Given the description of an element on the screen output the (x, y) to click on. 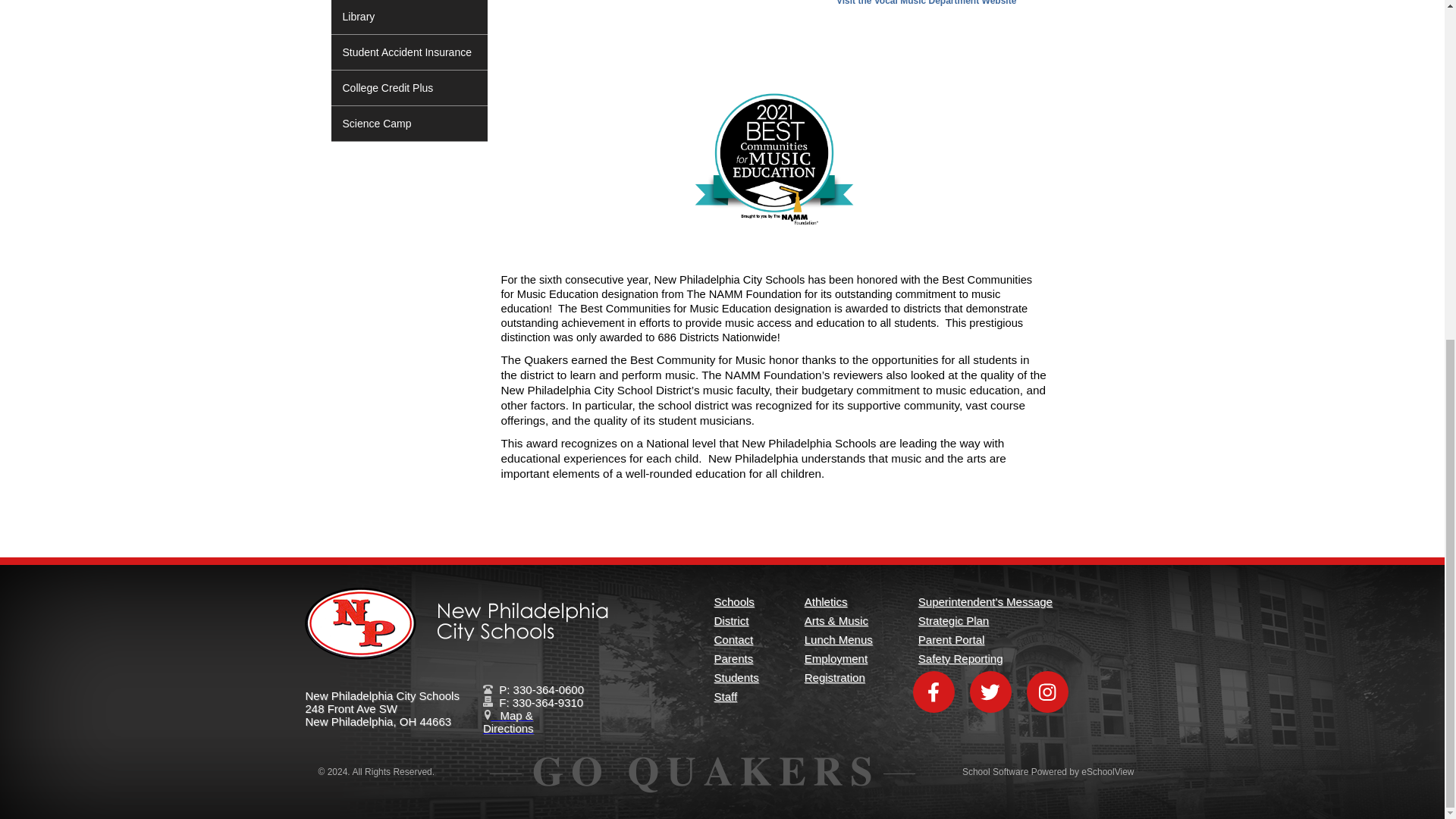
Twitter (989, 691)
Twitter (989, 691)
